Given the description of an element on the screen output the (x, y) to click on. 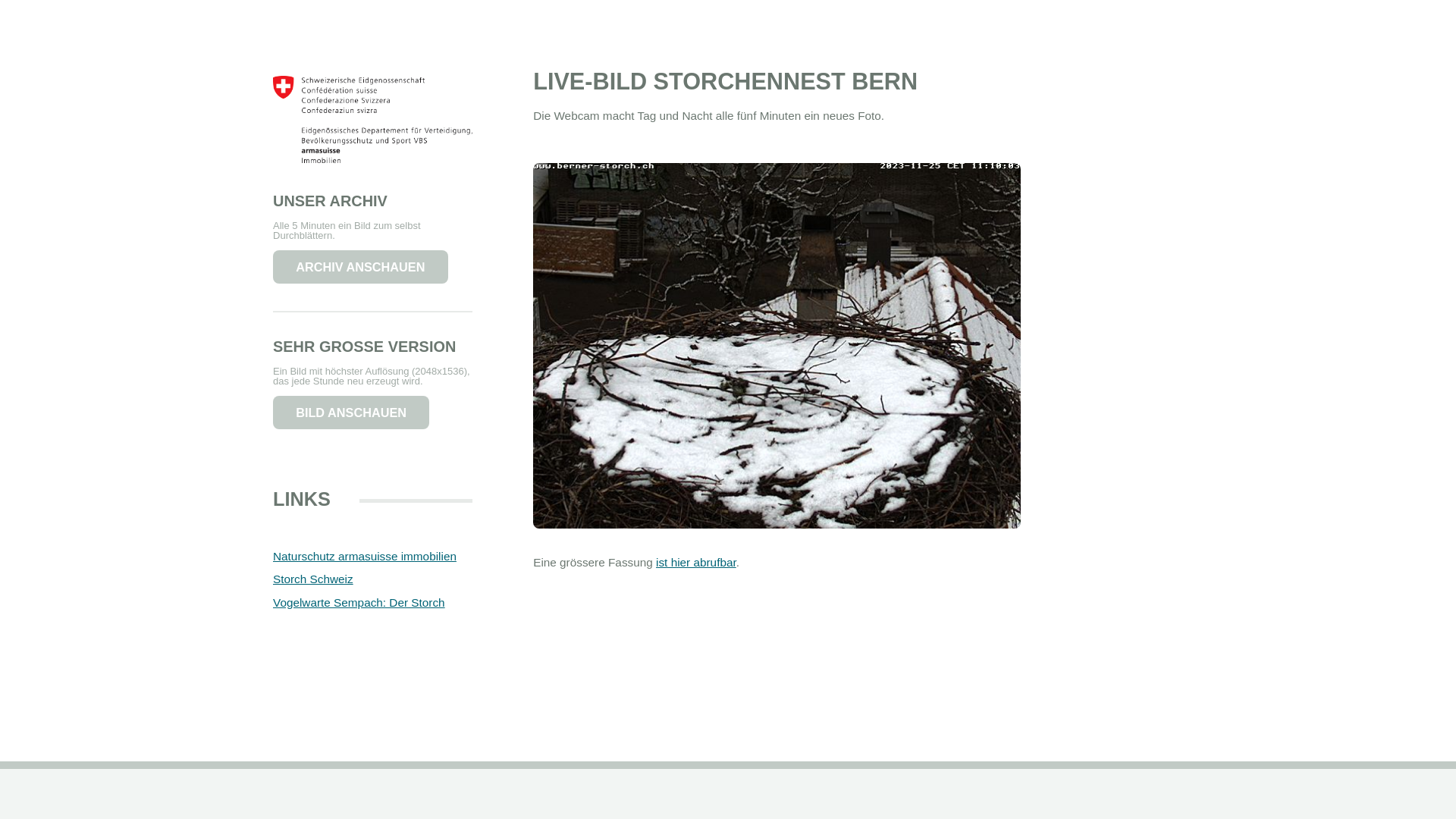
Naturschutz armasuisse immobilien Element type: text (364, 555)
BILD ANSCHAUEN Element type: text (351, 412)
Storch Schweiz Element type: text (313, 578)
ist hier abrufbar Element type: text (695, 561)
SEHR GROSSE VERSION Element type: text (364, 346)
ARCHIV ANSCHAUEN Element type: text (360, 266)
Vogelwarte Sempach: Der Storch Element type: text (359, 602)
Ein Projekt des VBS / armasuisse immobilien Element type: hover (372, 181)
UNSER ARCHIV Element type: text (330, 200)
